Given the description of an element on the screen output the (x, y) to click on. 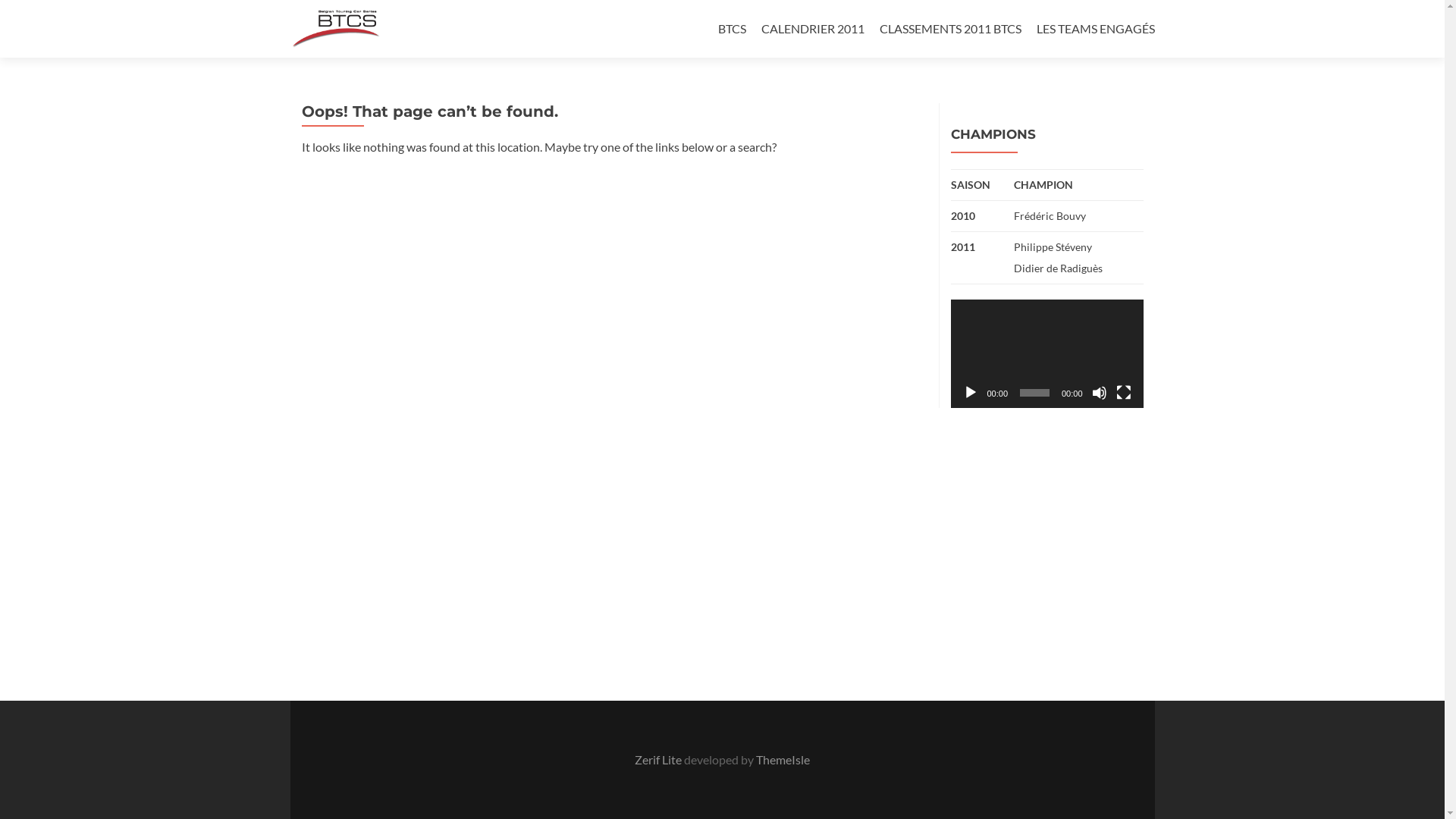
CALENDRIER 2011 Element type: text (812, 28)
Skip to content Element type: text (756, 9)
Zerif Lite Element type: text (659, 759)
ThemeIsle Element type: text (782, 759)
BTCS Element type: text (731, 28)
Mute Element type: hover (1099, 392)
CLASSEMENTS 2011 BTCS Element type: text (950, 28)
Play Element type: hover (970, 392)
Fullscreen Element type: hover (1123, 392)
